Given the description of an element on the screen output the (x, y) to click on. 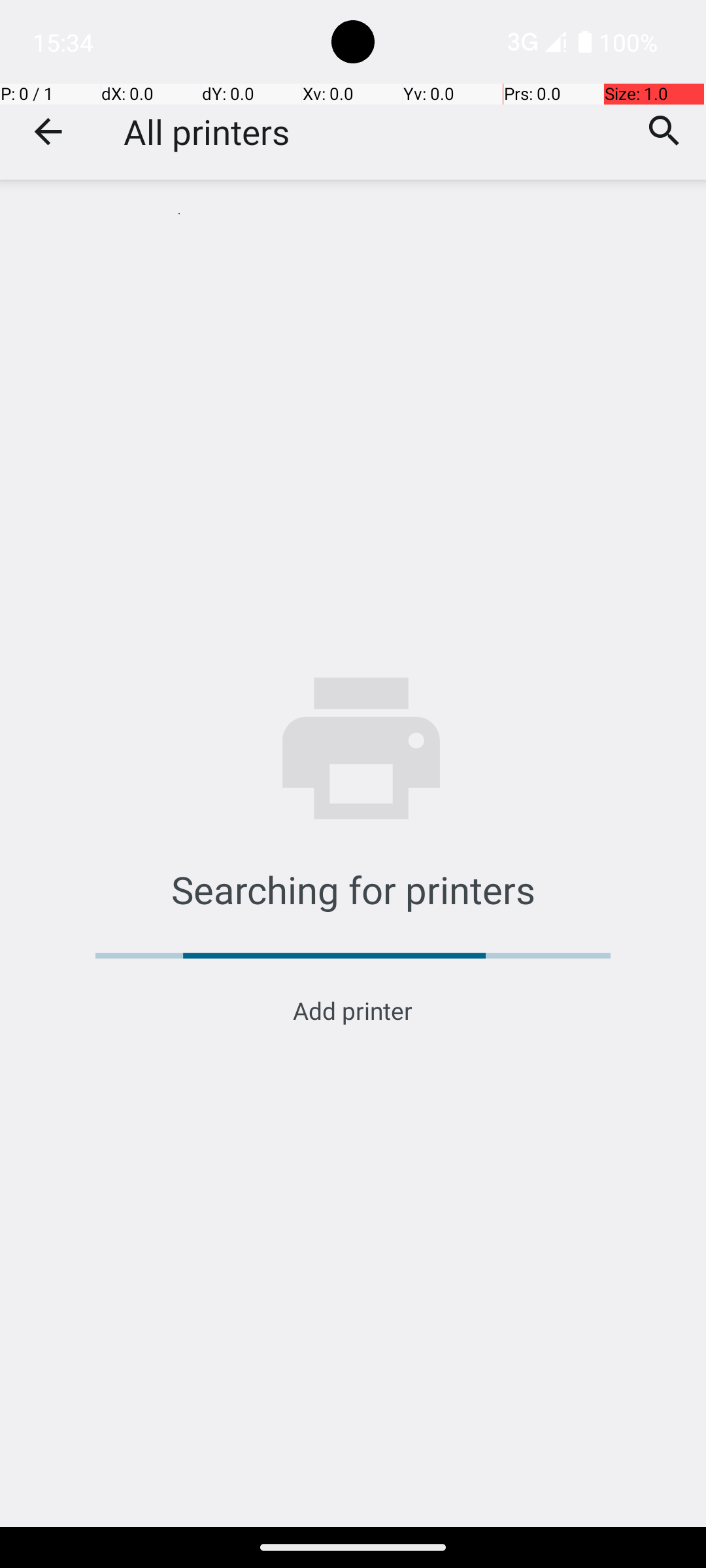
All printers Element type: android.widget.TextView (206, 131)
Searching for printers Element type: android.widget.TextView (352, 888)
Add printer Element type: android.widget.Button (352, 1010)
